Given the description of an element on the screen output the (x, y) to click on. 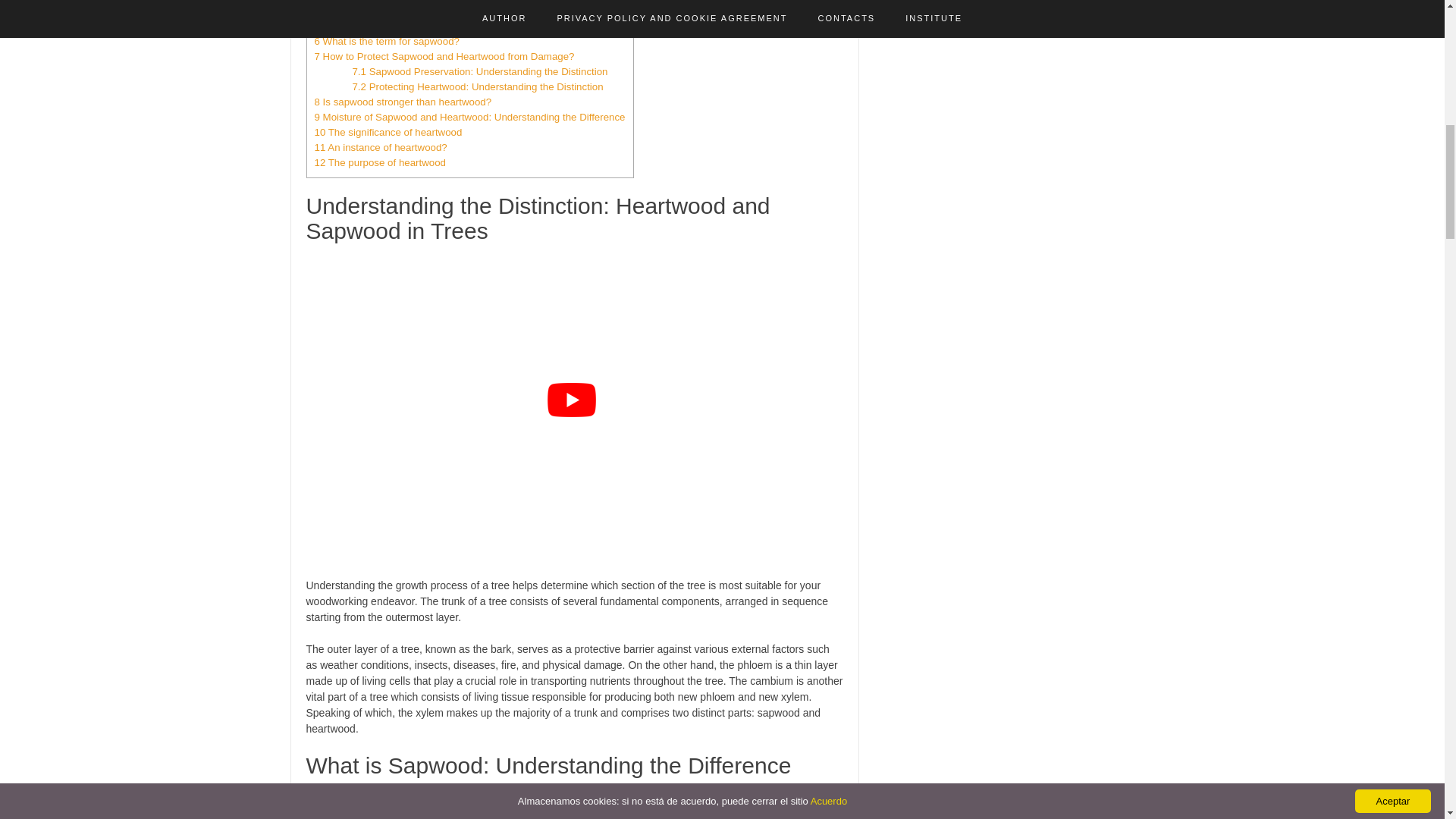
7.1 Sapwood Preservation: Understanding the Distinction (479, 71)
11 An instance of heartwood? (380, 147)
10 The significance of heartwood (387, 132)
5.2 Significance of Heartwood (419, 25)
8 Is sapwood stronger than heartwood? (403, 101)
6 What is the term for sapwood? (386, 41)
5.1 Significance of Sapwood (415, 10)
7 How to Protect Sapwood and Heartwood from Damage? (443, 56)
12 The purpose of heartwood (379, 161)
7.2 Protecting Heartwood: Understanding the Distinction (477, 86)
